Given the description of an element on the screen output the (x, y) to click on. 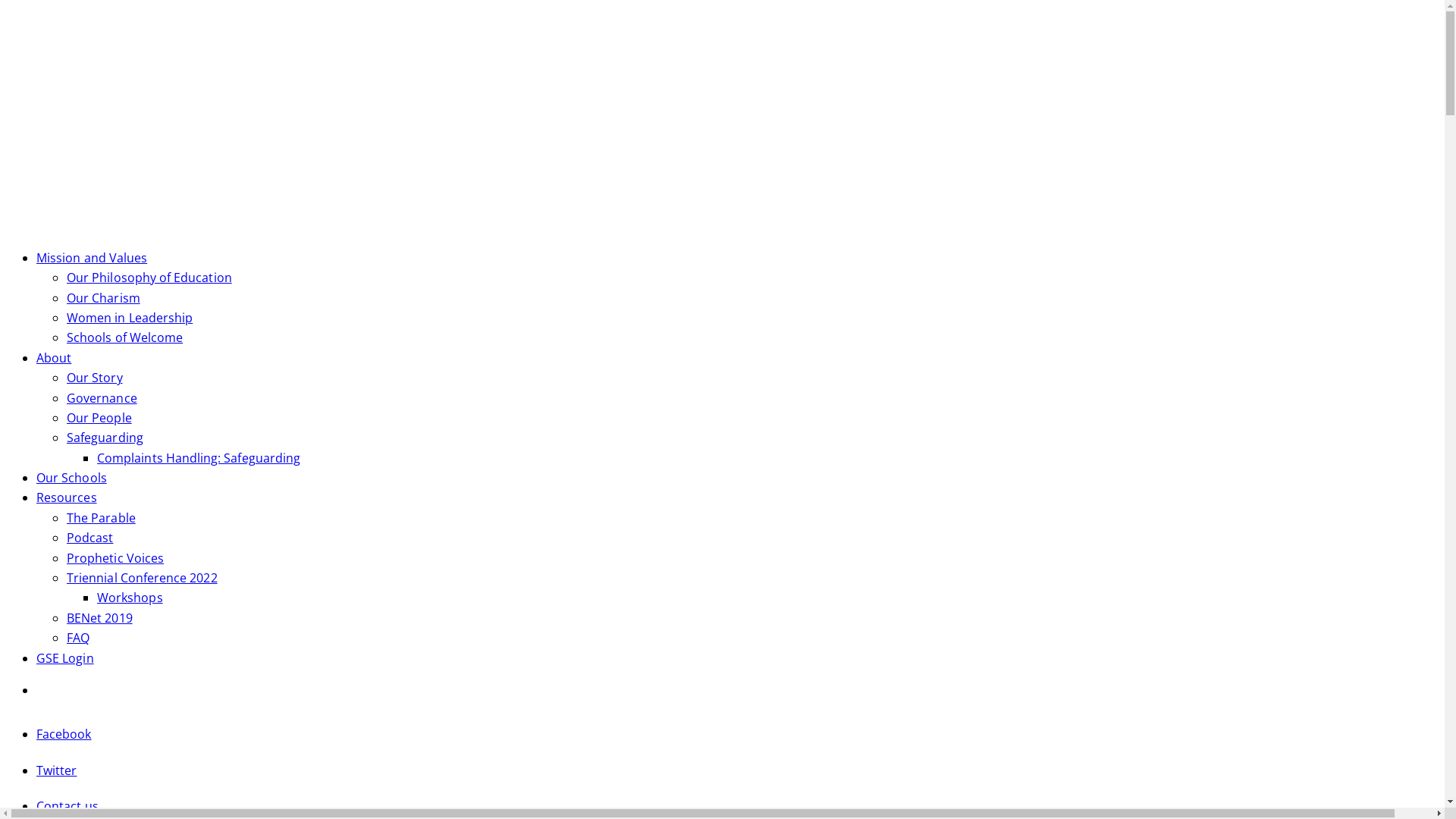
The Parable Element type: text (100, 517)
FAQ Element type: text (77, 637)
Our People Element type: text (98, 417)
Safeguarding Element type: text (104, 437)
Prophetic Voices Element type: text (114, 557)
Triennial Conference 2022 Element type: text (141, 577)
Twitter Element type: text (56, 770)
Our Charism Element type: text (103, 297)
GSE Login Element type: text (65, 657)
Governance Element type: text (101, 397)
Our Story Element type: text (94, 377)
Resources Element type: text (66, 497)
Mission and Values Element type: text (91, 257)
Facebook Element type: text (63, 733)
About Element type: text (53, 357)
Women in Leadership Element type: text (129, 317)
Workshops Element type: text (130, 597)
BENet 2019 Element type: text (99, 617)
Contact us Element type: text (67, 805)
Schools of Welcome Element type: text (124, 337)
Podcast Element type: text (89, 537)
Our Philosophy of Education Element type: text (149, 277)
Complaints Handling: Safeguarding Element type: text (198, 457)
Our Schools Element type: text (71, 477)
